Given the description of an element on the screen output the (x, y) to click on. 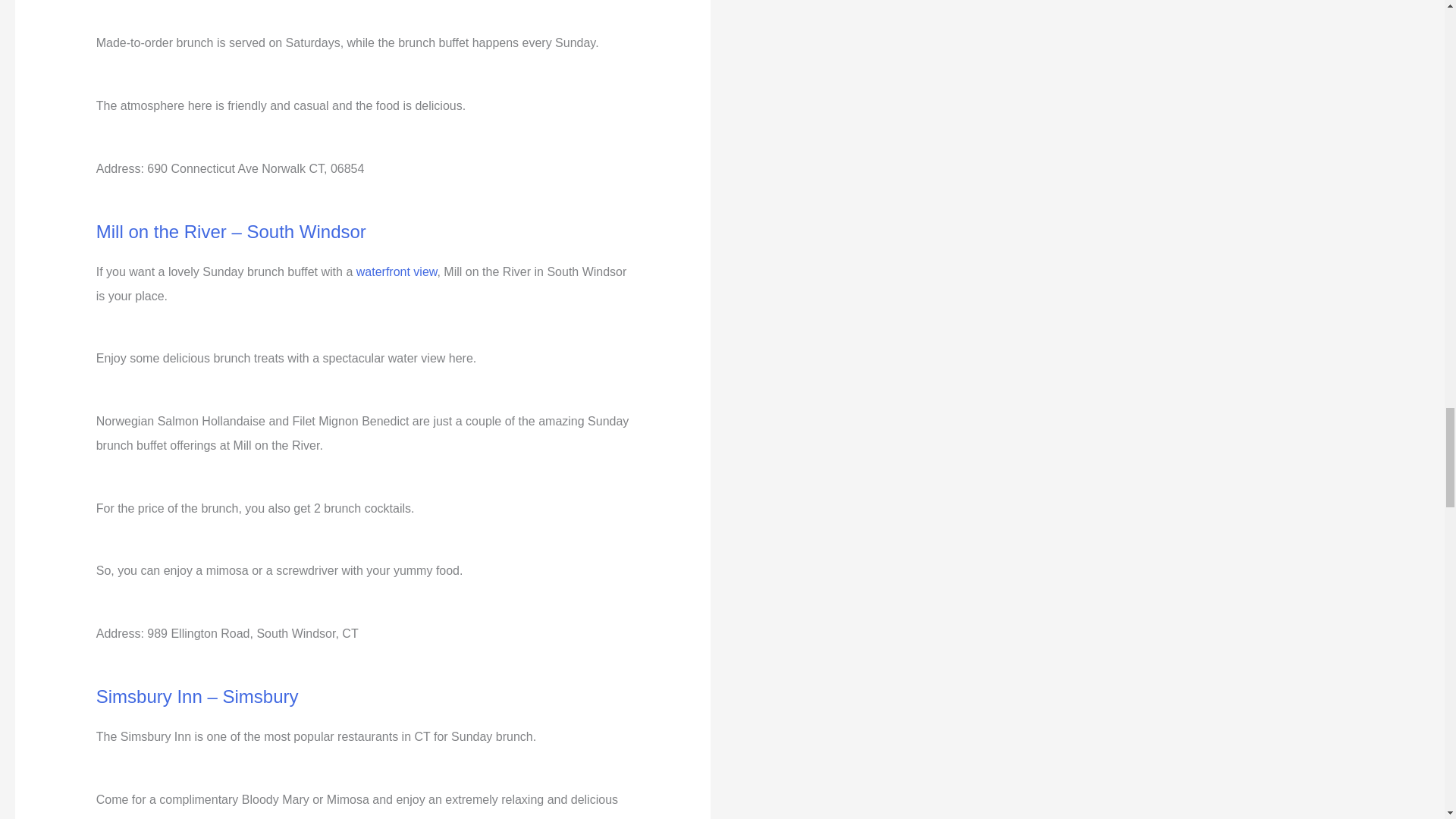
waterfront view (397, 271)
